Given the description of an element on the screen output the (x, y) to click on. 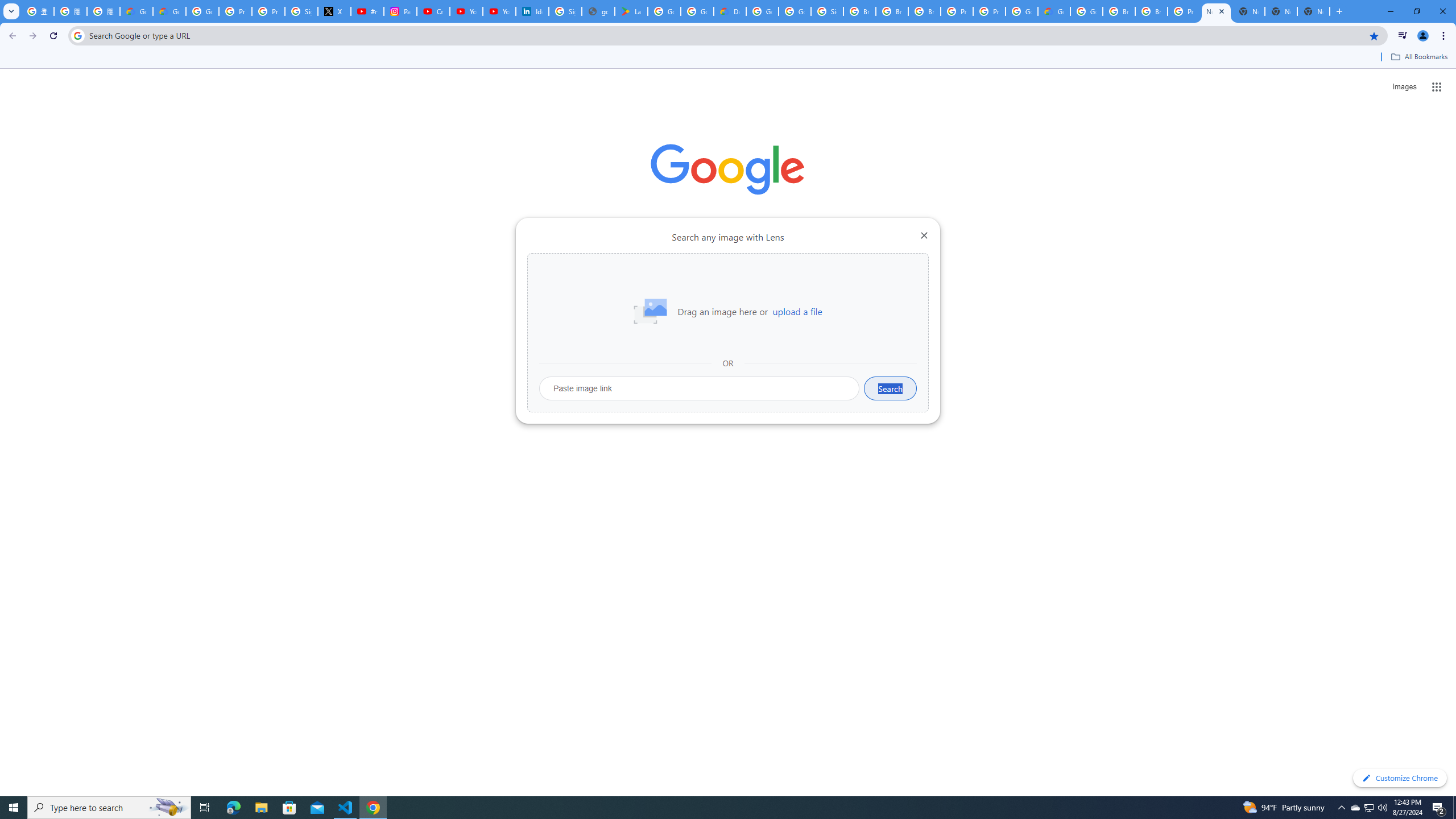
upload a file (796, 311)
Google Cloud Platform (1021, 11)
Add shortcut (727, 287)
Sign in - Google Accounts (827, 11)
New Tab (1216, 11)
YouTube Culture & Trends - YouTube Top 10, 2021 (499, 11)
